Given the description of an element on the screen output the (x, y) to click on. 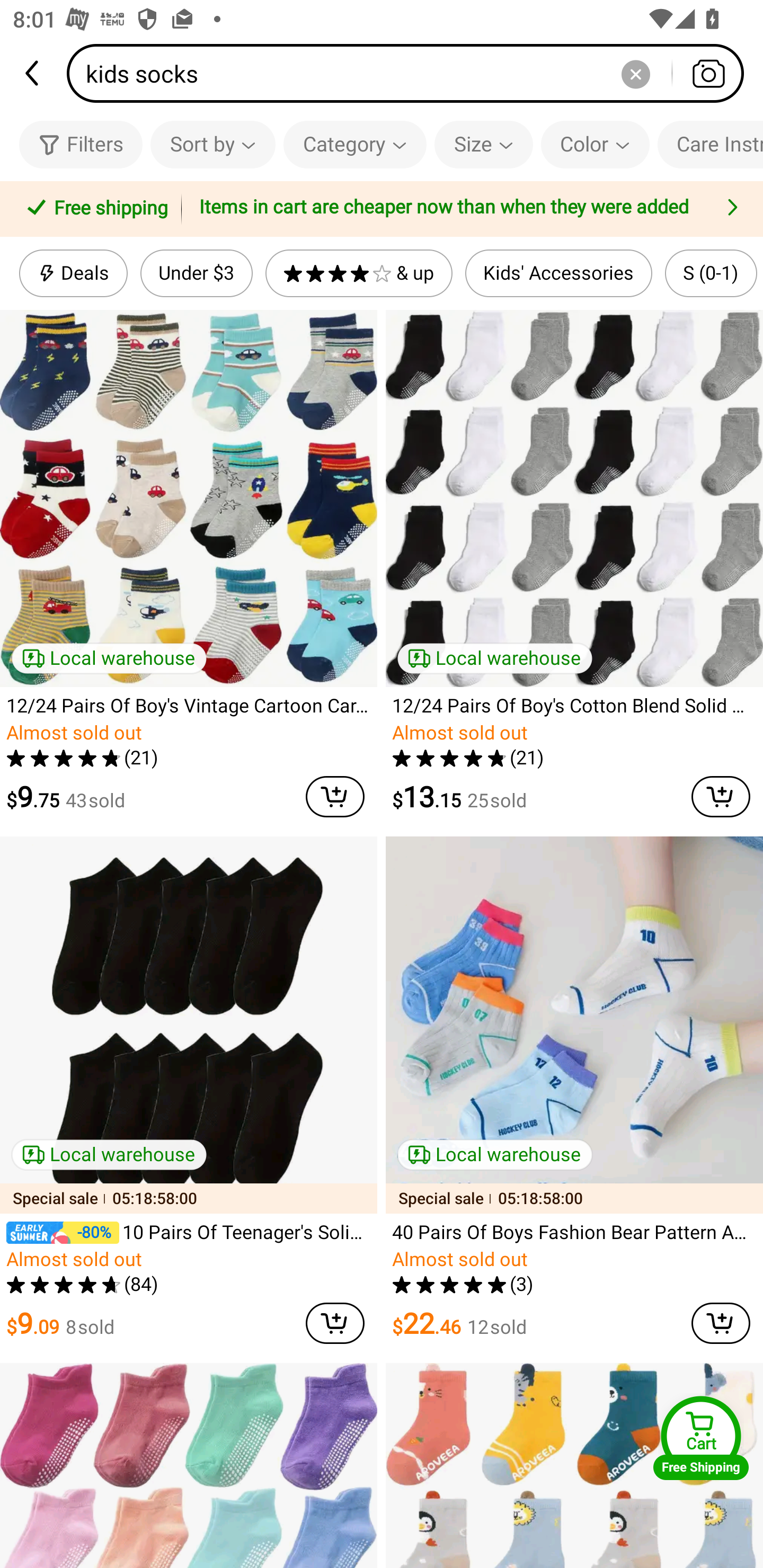
back (33, 72)
kids socks (411, 73)
Delete search history (635, 73)
Search by photo (708, 73)
Filters (80, 143)
Sort by (212, 143)
Category (354, 143)
Size (483, 143)
Color (594, 143)
Care Instructions (710, 143)
 Free shipping (93, 208)
Deals (73, 273)
Under $3 (196, 273)
& up (358, 273)
Kids' Accessories (558, 273)
S (0-1) (710, 273)
